Given the description of an element on the screen output the (x, y) to click on. 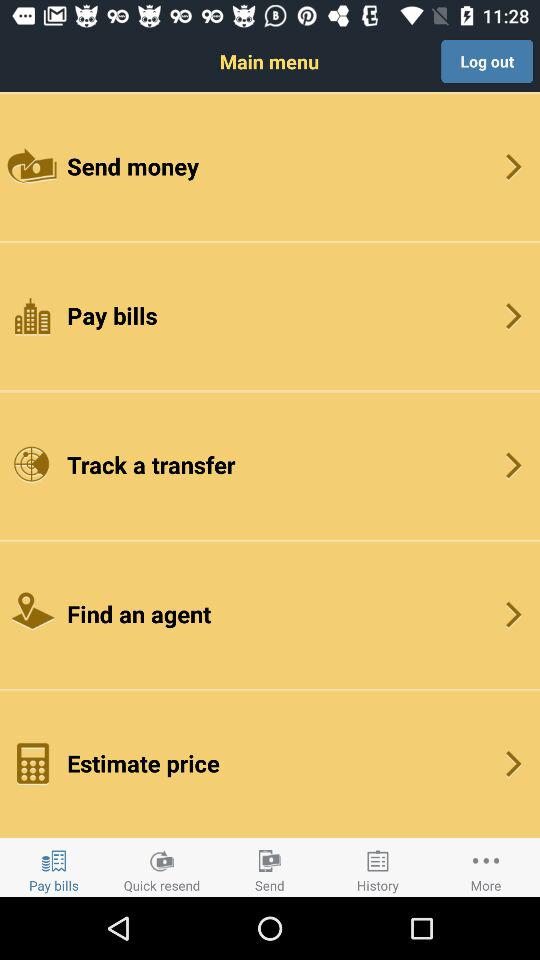
turn on the app next to the main menu app (487, 61)
